Given the description of an element on the screen output the (x, y) to click on. 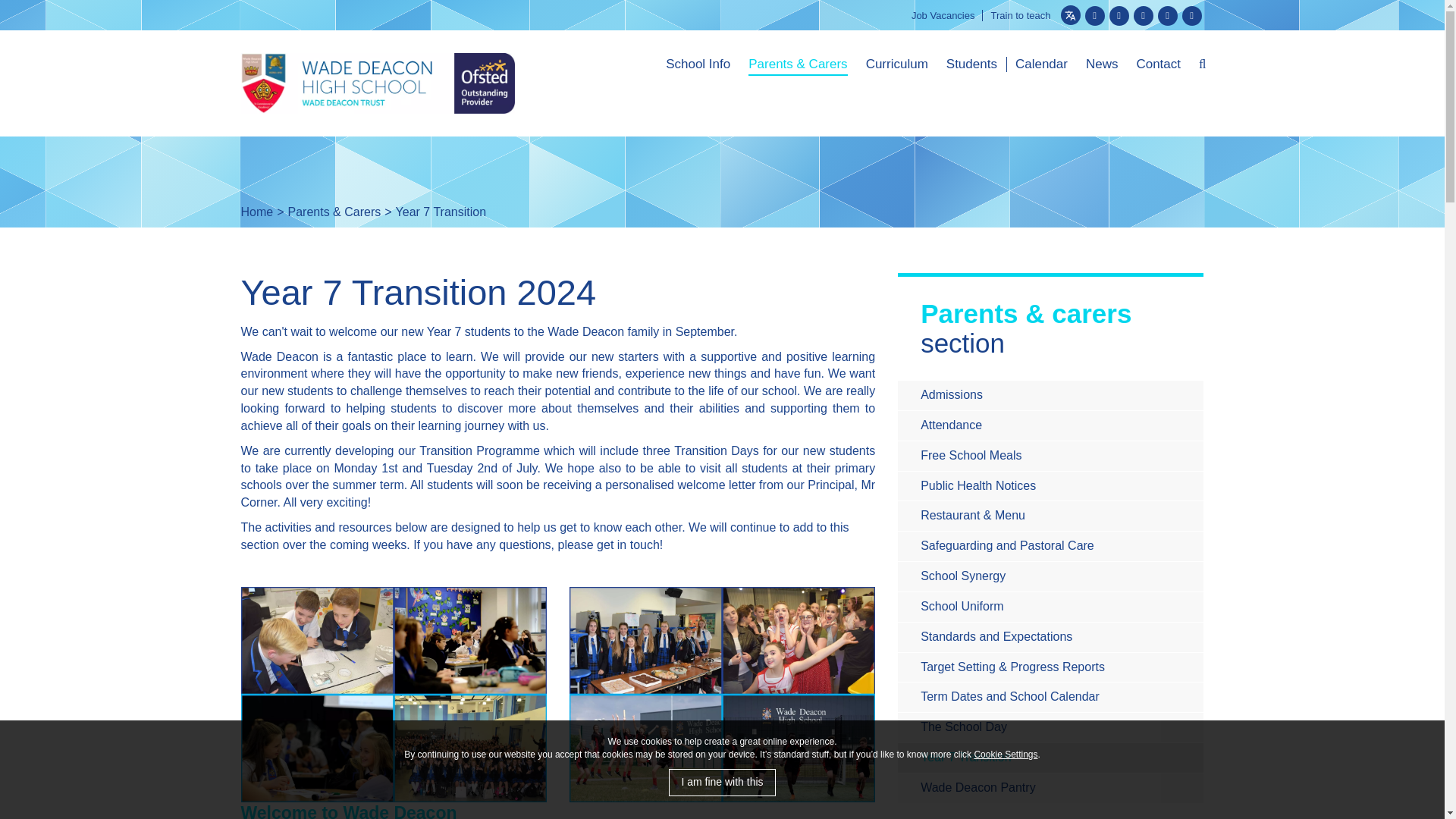
translate (1069, 15)
School Info (697, 65)
Train to teach (1019, 15)
Wade Deacon High School (378, 83)
Curriculum (897, 65)
Job Vacancies (943, 15)
